Given the description of an element on the screen output the (x, y) to click on. 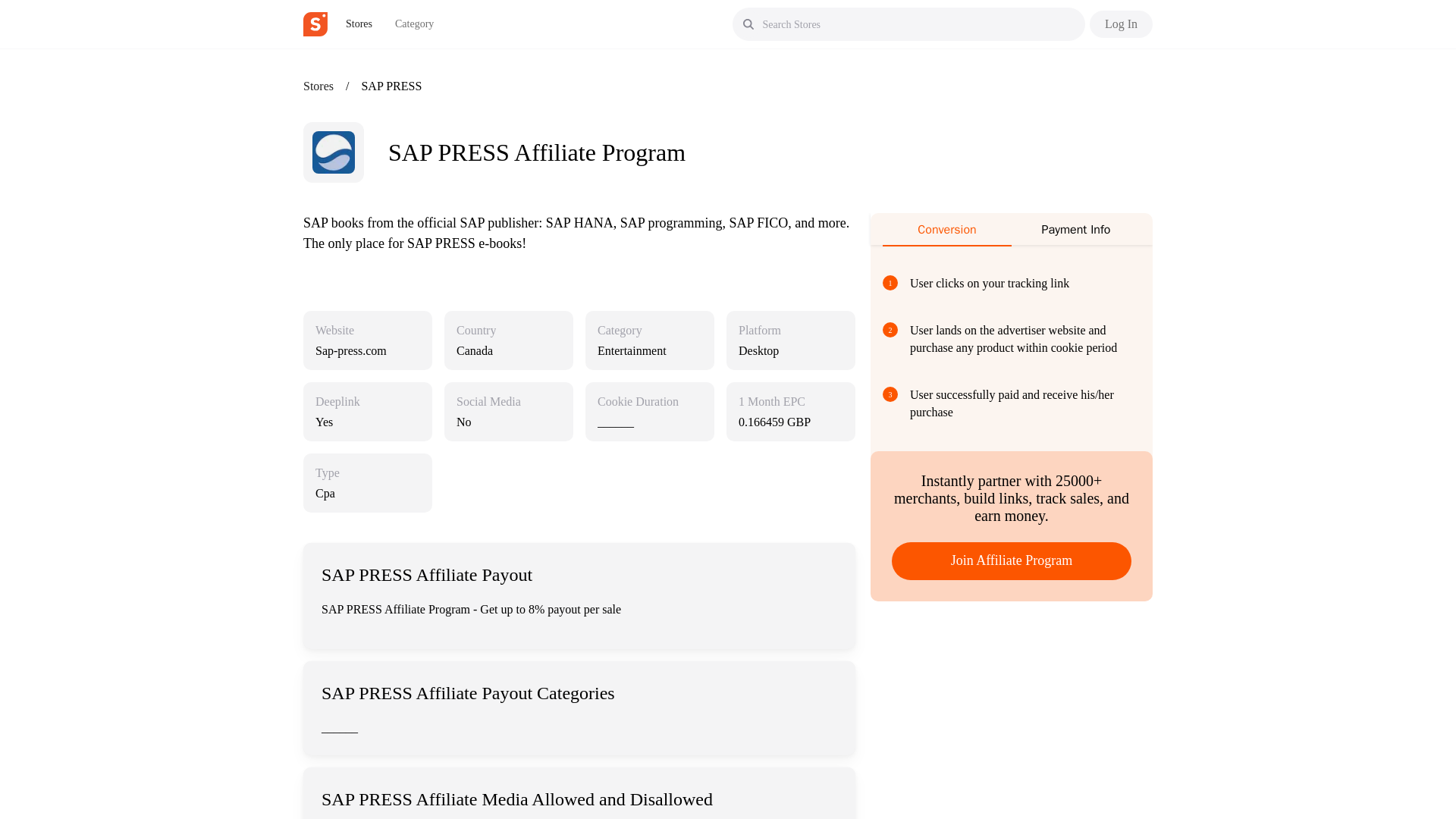
No (508, 422)
Cookie Duration (637, 401)
1 Month EPC (771, 401)
Platform (759, 330)
Yes (367, 422)
Canada (508, 350)
Social Media (489, 401)
cpa (367, 493)
Join Affiliate Program (1011, 560)
Stores (359, 24)
